Given the description of an element on the screen output the (x, y) to click on. 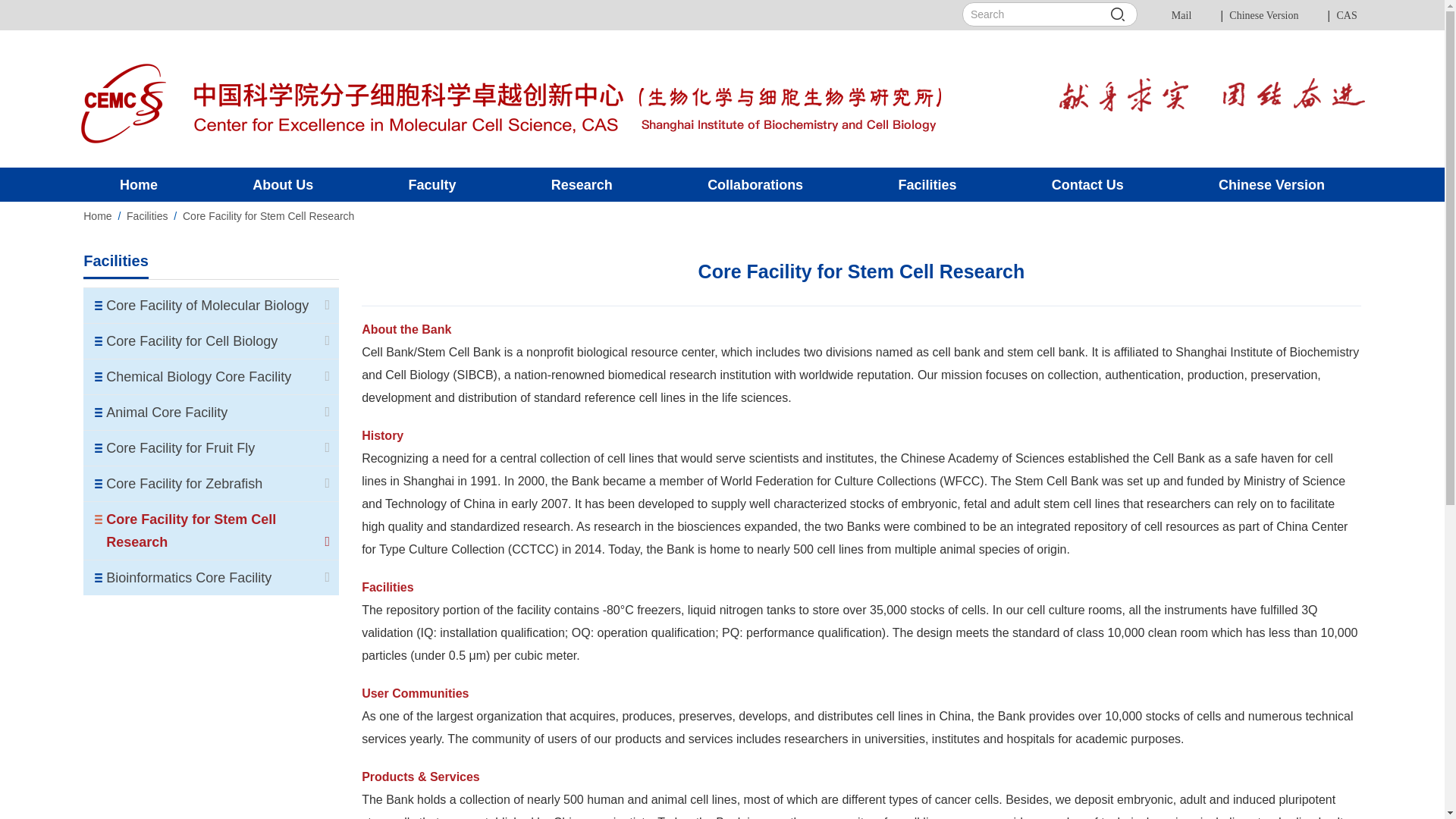
Contact Us (1087, 184)
Facilities (927, 184)
Faculty (432, 184)
Research (581, 184)
Mail (1181, 15)
Home (138, 184)
CAS (1346, 15)
Chinese Version (1270, 184)
Chinese Version (1263, 15)
About Us (283, 184)
Collaborations (754, 184)
